Given the description of an element on the screen output the (x, y) to click on. 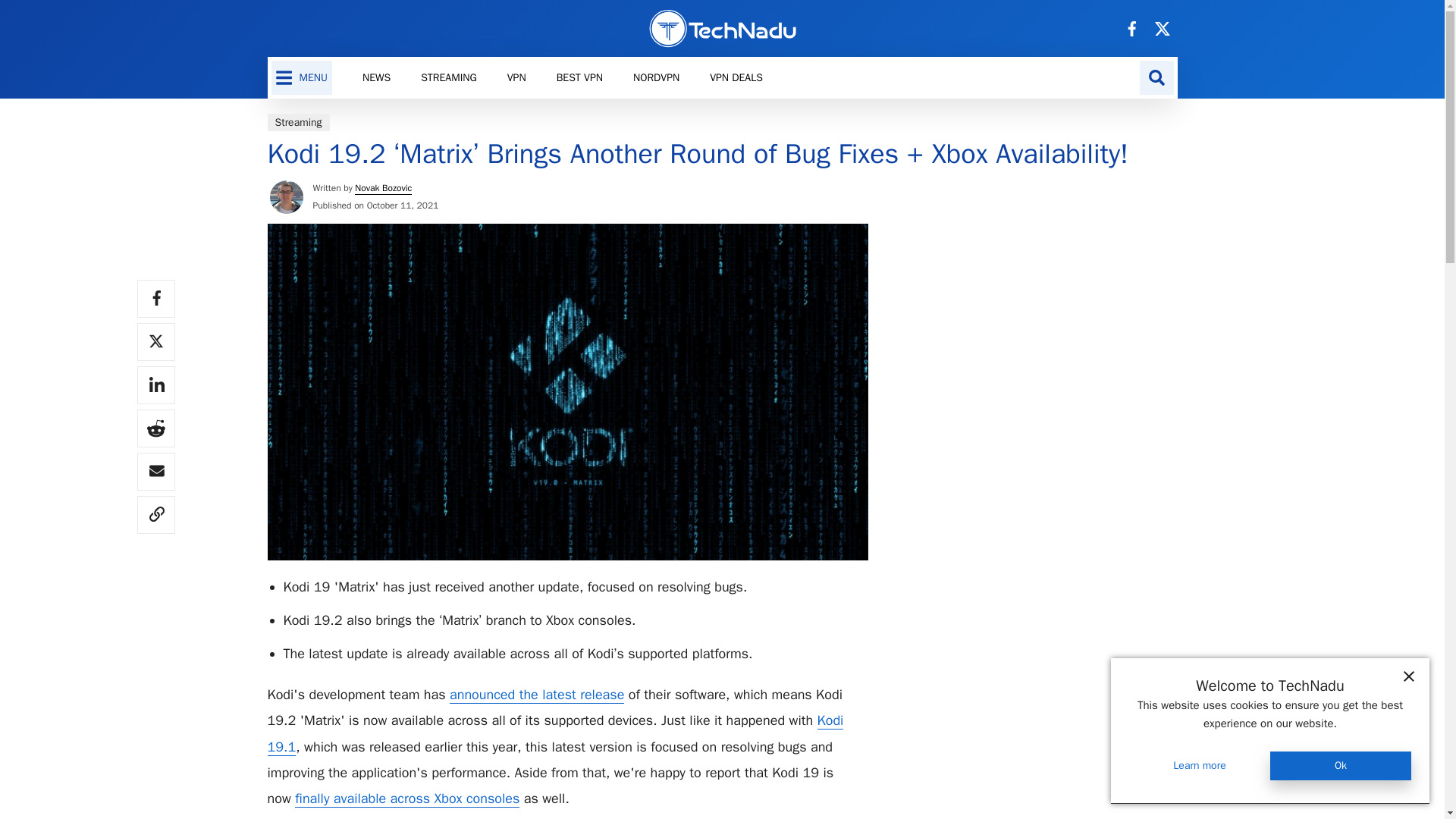
Share via Email (155, 471)
MENU (301, 77)
BEST VPN (579, 76)
Share via Reddit (155, 428)
Share with Linkedin (155, 385)
STREAMING (562, 77)
VPN DEALS (448, 76)
NORDVPN (735, 76)
